Given the description of an element on the screen output the (x, y) to click on. 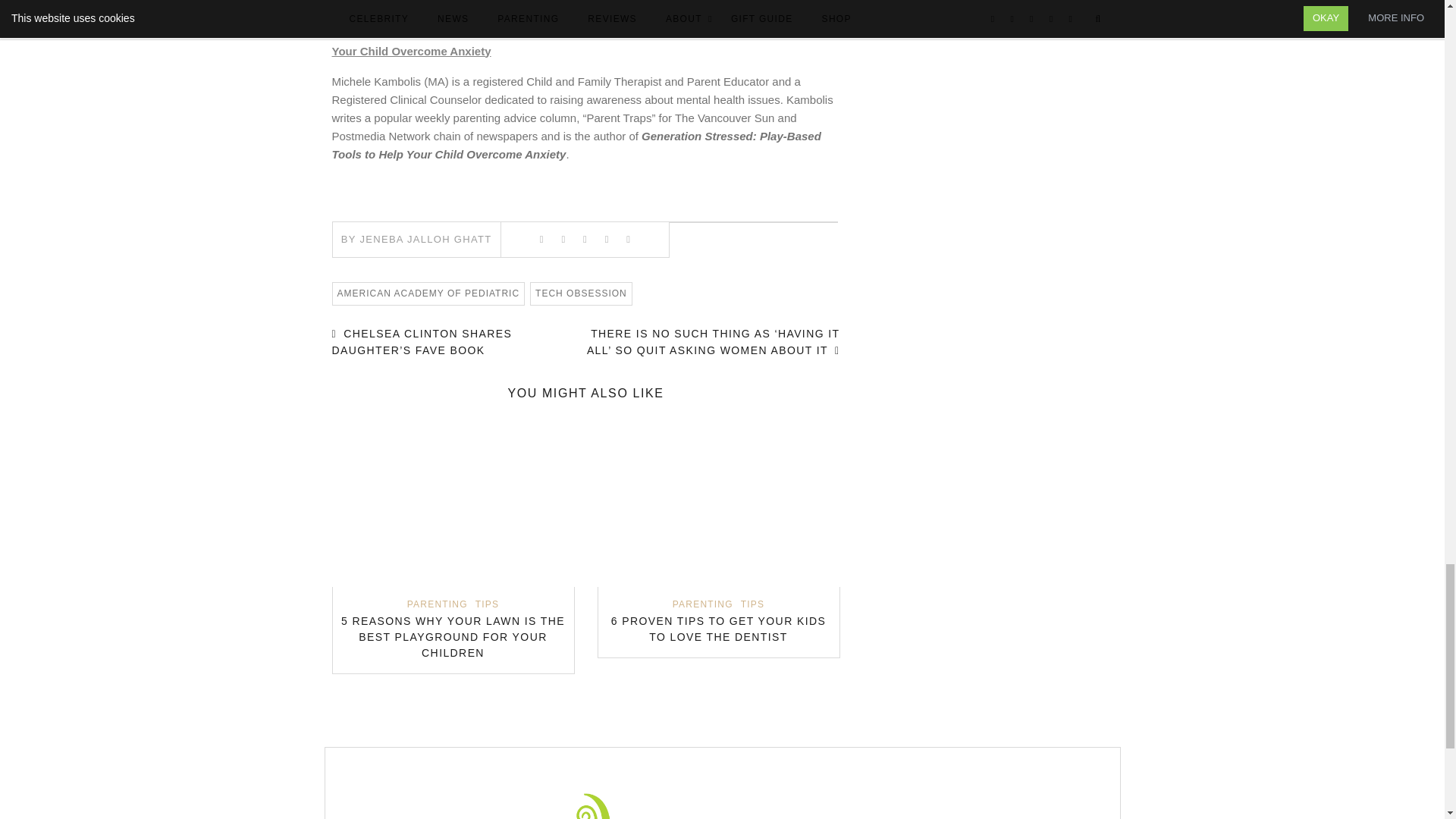
PARENTING (702, 604)
TIPS (487, 604)
BY JENEBA JALLOH GHATT (416, 238)
PARENTING (437, 604)
AMERICAN ACADEMY OF PEDIATRIC (428, 293)
TECH OBSESSION (580, 293)
